Given the description of an element on the screen output the (x, y) to click on. 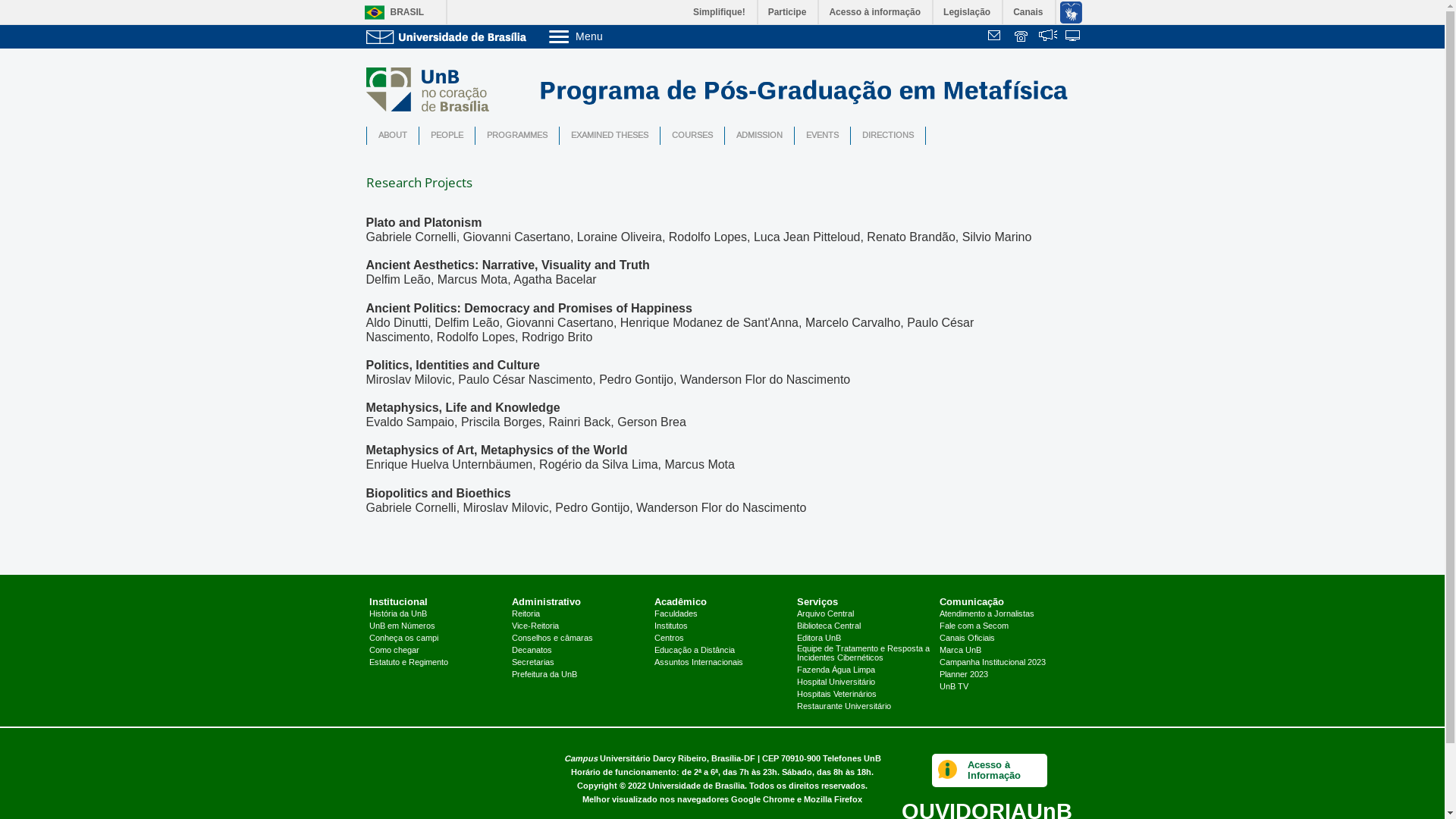
Marca UnB Element type: text (960, 650)
  Element type: text (1022, 37)
UnB TV Element type: text (953, 686)
Sistemas Element type: hover (1073, 37)
Canais Oficiais Element type: text (966, 638)
  Element type: text (1073, 37)
Prefeitura da UnB Element type: text (544, 674)
Assuntos Internacionais Element type: text (698, 662)
Decanatos Element type: text (531, 650)
Planner 2023 Element type: text (963, 674)
Institutos Element type: text (670, 625)
Centros Element type: text (669, 638)
Participe Element type: text (788, 11)
Menu Element type: text (613, 35)
Arquivo Central Element type: text (825, 613)
Fala.BR Element type: hover (1047, 37)
Atendimento a Jornalistas Element type: text (986, 613)
Estatuto e Regimento Element type: text (408, 662)
Telefones UnB Element type: text (851, 758)
Simplifique! Element type: text (719, 11)
Reitoria Element type: text (525, 613)
Vice-Reitoria Element type: text (534, 625)
BRASIL Element type: text (389, 12)
Editora UnB Element type: text (818, 638)
Como chegar Element type: text (394, 650)
  Element type: text (1047, 37)
Secretarias Element type: text (532, 662)
Fale com a Secom Element type: text (973, 625)
Ir para o Portal da UnB Element type: hover (448, 36)
Faculdades Element type: text (675, 613)
  Element type: text (996, 37)
Webmail Element type: hover (996, 37)
Canais Element type: text (1028, 11)
Campanha Institucional 2023 Element type: text (992, 662)
Telefones da UnB Element type: hover (1022, 37)
Biblioteca Central Element type: text (828, 625)
